Given the description of an element on the screen output the (x, y) to click on. 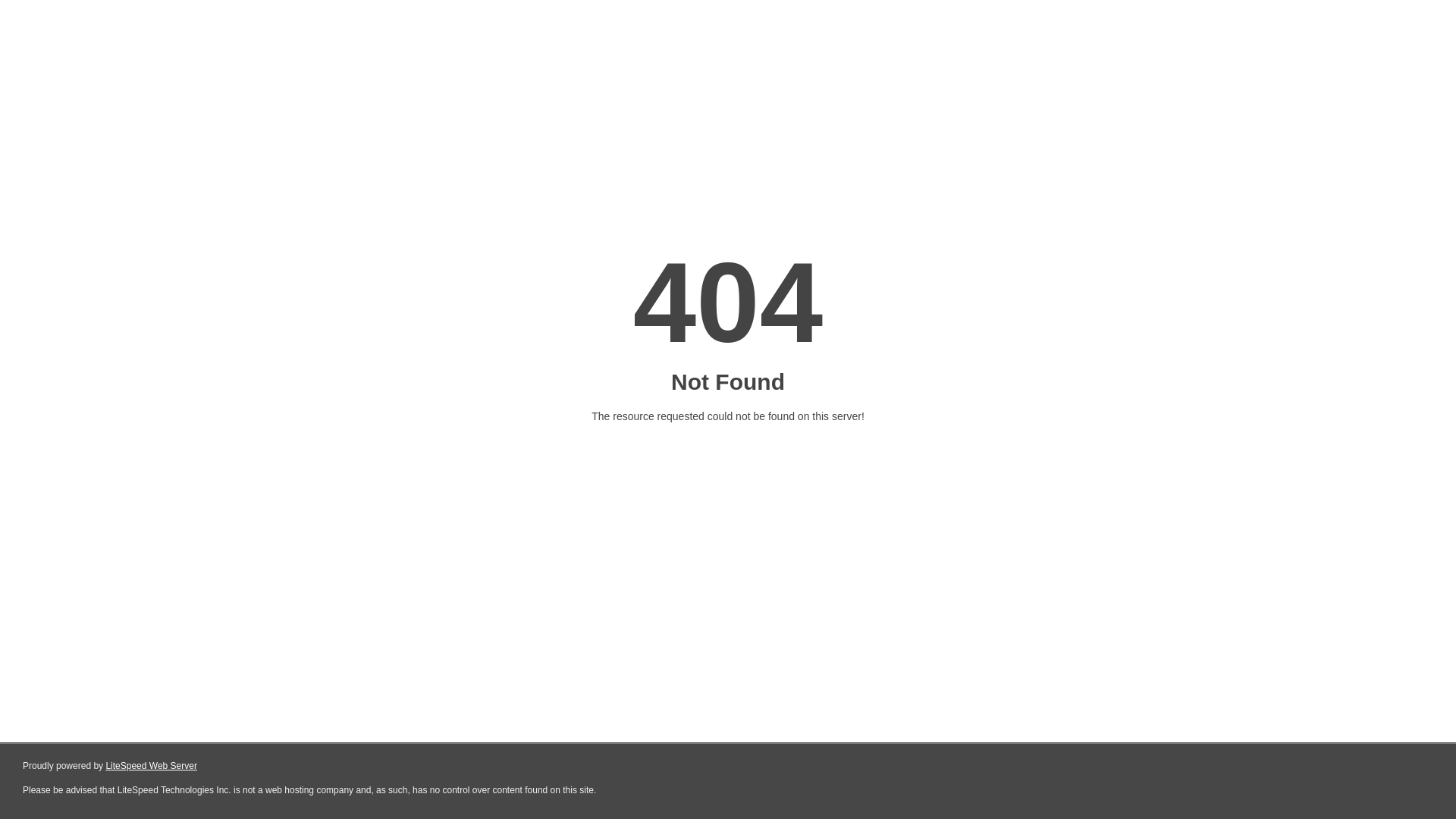
LiteSpeed Web Server Element type: text (151, 765)
